Given the description of an element on the screen output the (x, y) to click on. 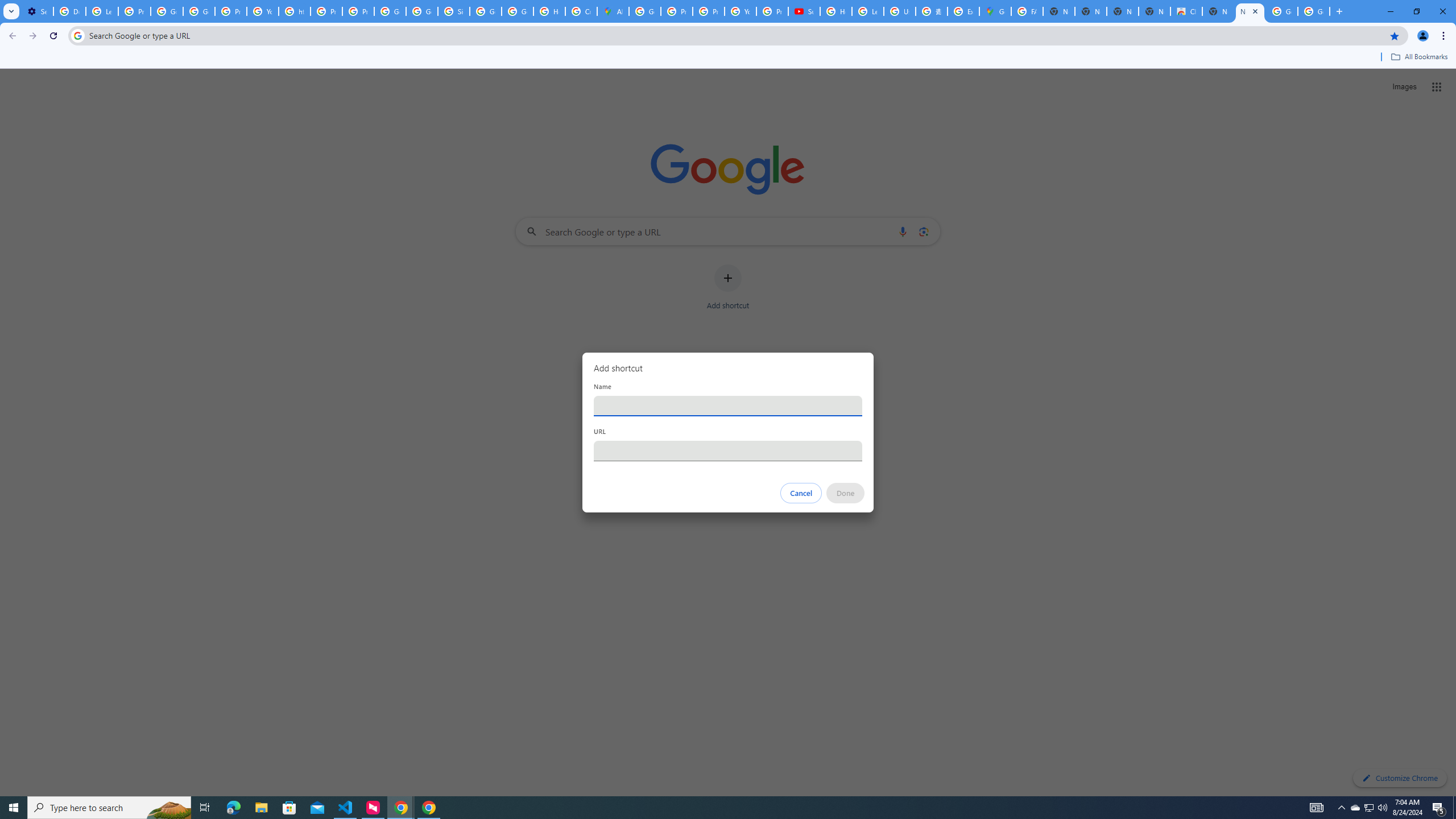
Google Account Help (166, 11)
YouTube (740, 11)
Create your Google Account (581, 11)
Delete photos & videos - Computer - Google Photos Help (69, 11)
Explore new street-level details - Google Maps Help (963, 11)
